Given the description of an element on the screen output the (x, y) to click on. 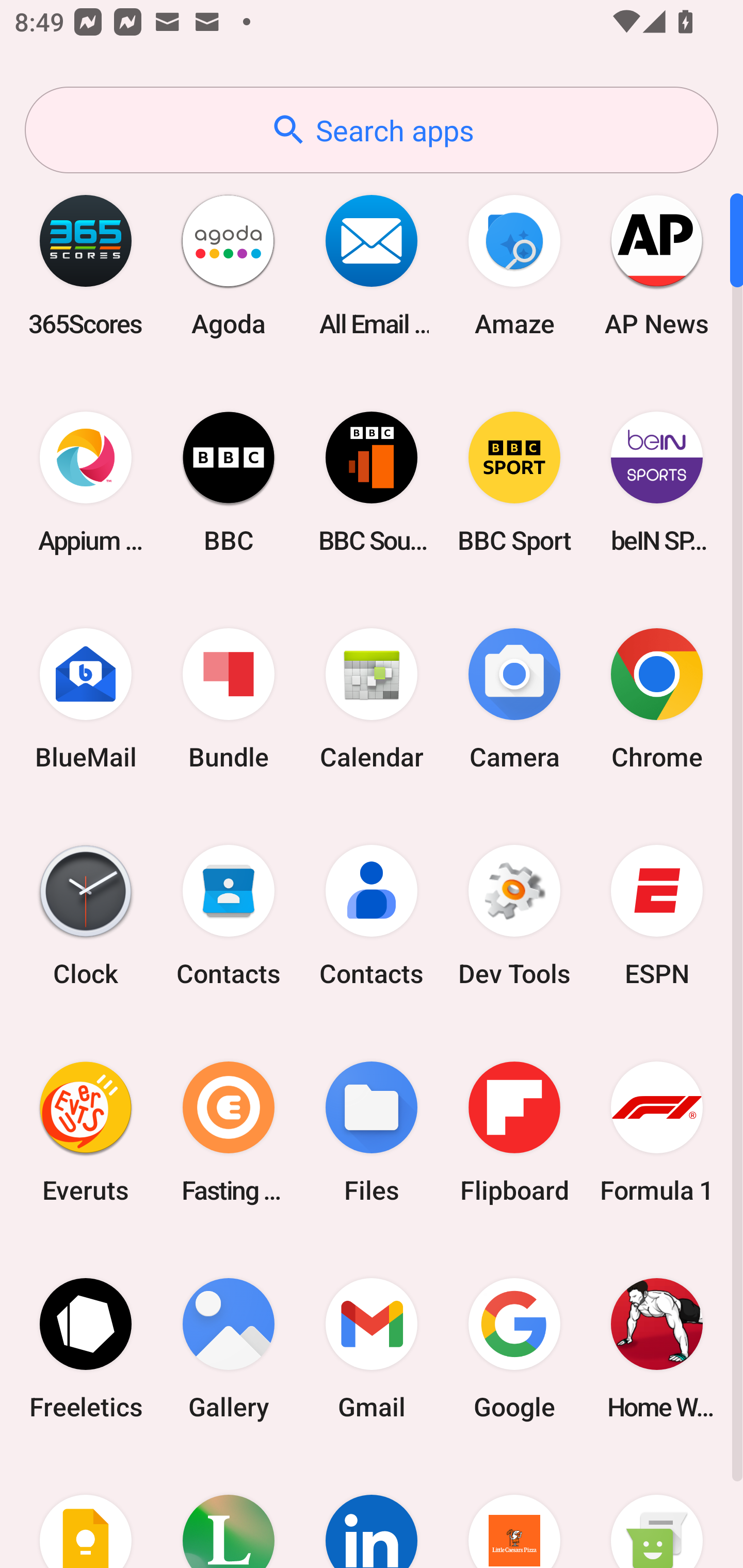
  Search apps (371, 130)
365Scores (85, 264)
Agoda (228, 264)
All Email Connect (371, 264)
Amaze (514, 264)
AP News (656, 264)
Appium Settings (85, 482)
BBC (228, 482)
BBC Sounds (371, 482)
BBC Sport (514, 482)
beIN SPORTS (656, 482)
BlueMail (85, 699)
Bundle (228, 699)
Calendar (371, 699)
Camera (514, 699)
Chrome (656, 699)
Clock (85, 915)
Contacts (228, 915)
Contacts (371, 915)
Dev Tools (514, 915)
ESPN (656, 915)
Everuts (85, 1131)
Fasting Coach (228, 1131)
Files (371, 1131)
Flipboard (514, 1131)
Formula 1 (656, 1131)
Freeletics (85, 1348)
Gallery (228, 1348)
Gmail (371, 1348)
Google (514, 1348)
Home Workout (656, 1348)
Keep Notes (85, 1512)
Lifesum (228, 1512)
LinkedIn (371, 1512)
Little Caesars Pizza (514, 1512)
Messaging (656, 1512)
